Given the description of an element on the screen output the (x, y) to click on. 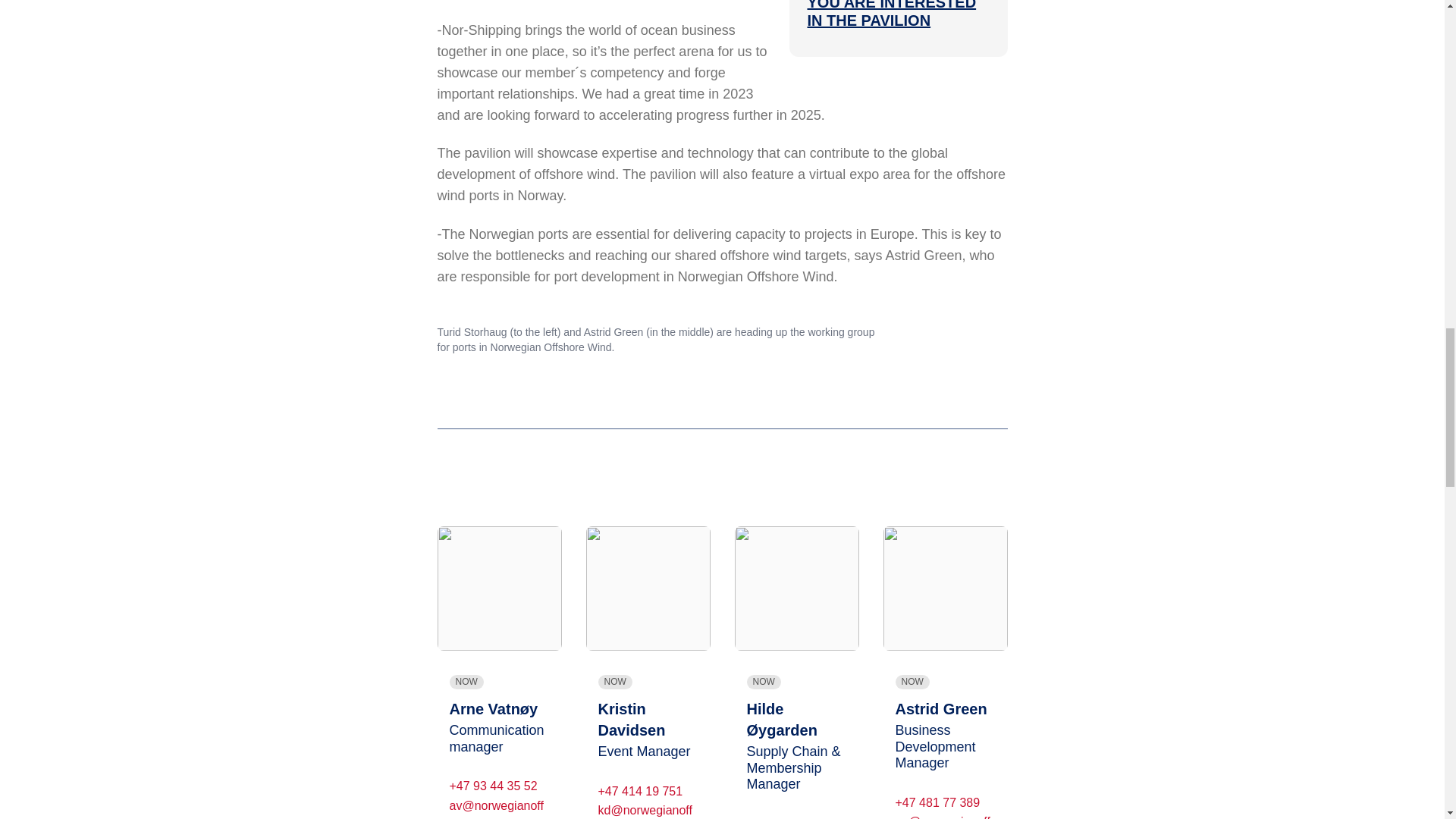
CONTACT OUR TEAM IF YOU ARE INTERESTED IN THE PAVILION (894, 14)
